Given the description of an element on the screen output the (x, y) to click on. 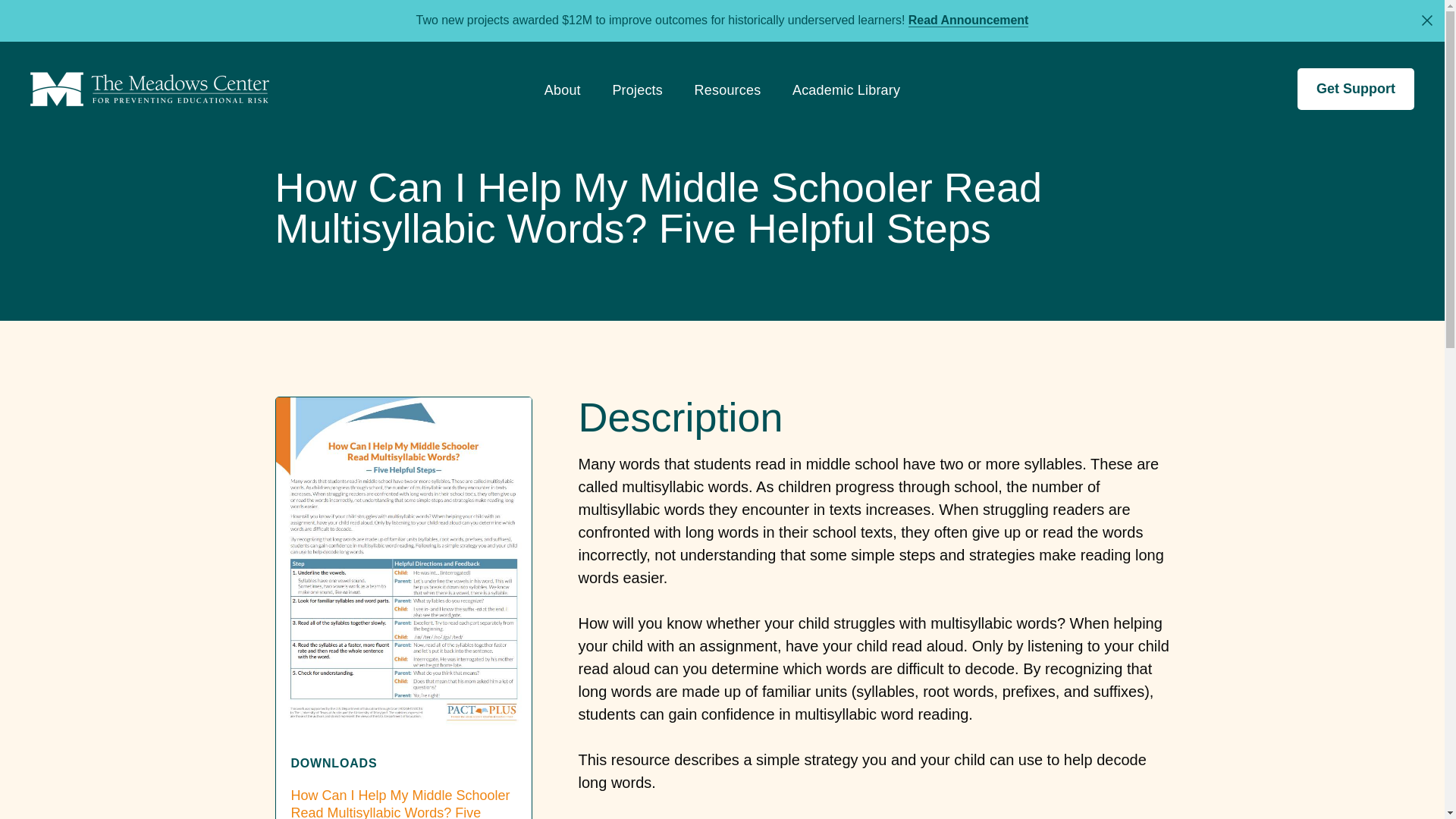
Academic Library (845, 95)
Read Announcement (968, 19)
Projects (636, 95)
Get Support (1355, 88)
  Read Announcement (968, 19)
Resources (727, 95)
Get Support (1355, 88)
About (562, 95)
